Given the description of an element on the screen output the (x, y) to click on. 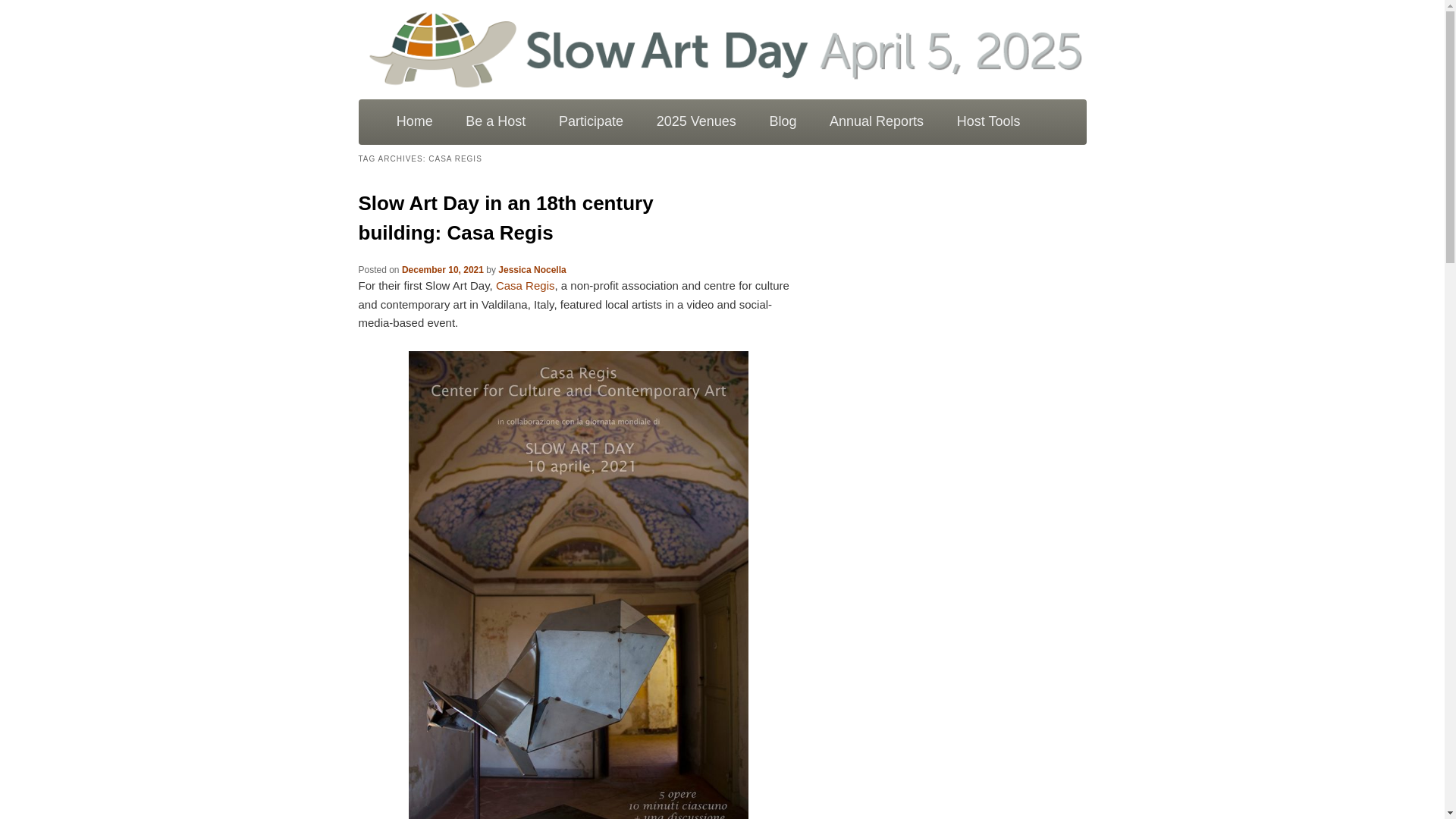
Be a Host (494, 121)
December 10, 2021 (442, 269)
Skip to secondary content (456, 118)
Annual Reports (876, 121)
Slow Art Day in an 18th century building: Casa Regis (505, 217)
Host Tools (988, 121)
9:23 am (442, 269)
Skip to primary content (449, 118)
Jessica Nocella (531, 269)
2025 Venues (696, 121)
Casa Regis (525, 285)
Blog (782, 121)
View all posts by Jessica Nocella (531, 269)
Skip to secondary content (456, 118)
Home (414, 121)
